Given the description of an element on the screen output the (x, y) to click on. 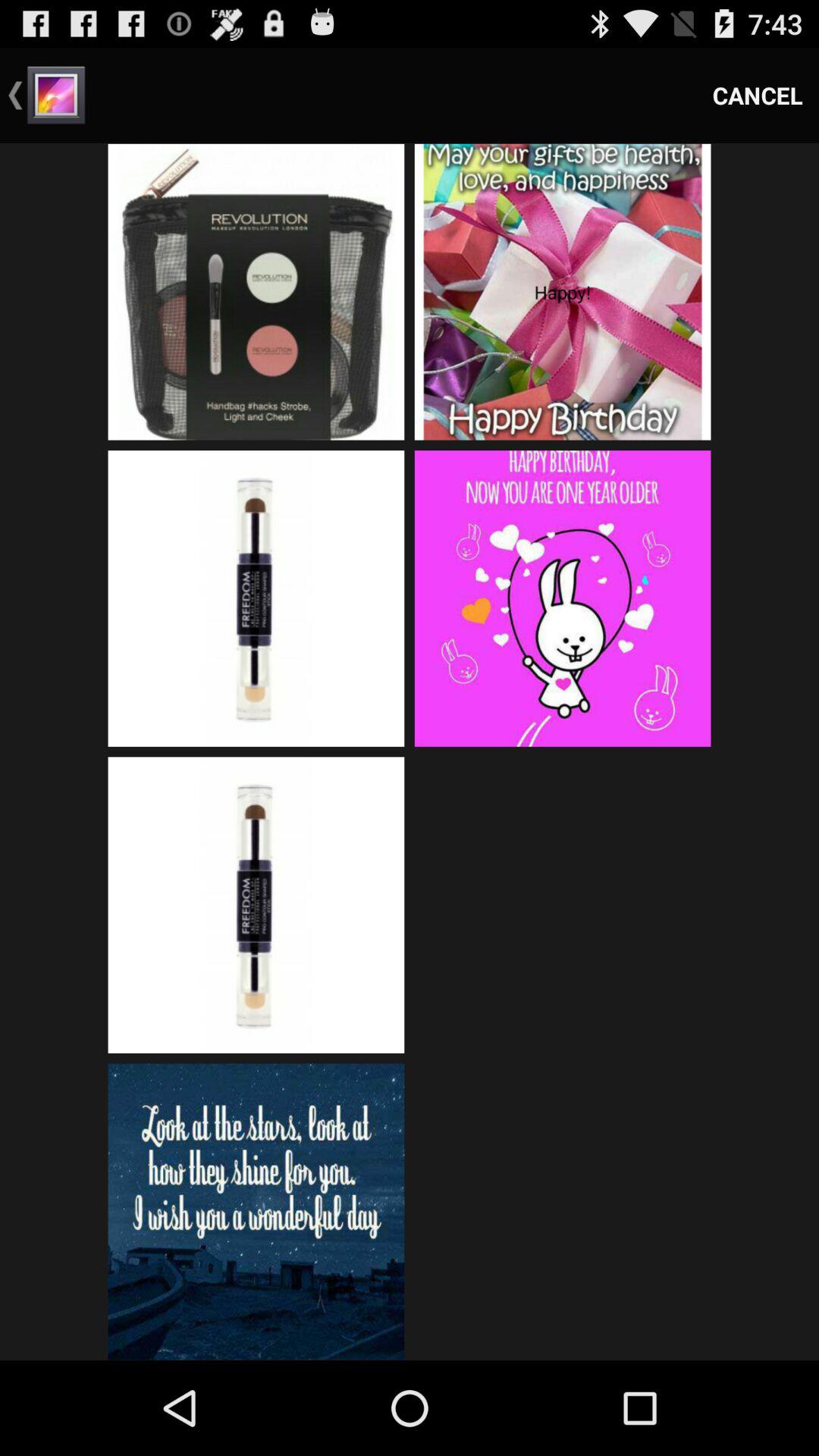
turn on the item at the top right corner (757, 95)
